Given the description of an element on the screen output the (x, y) to click on. 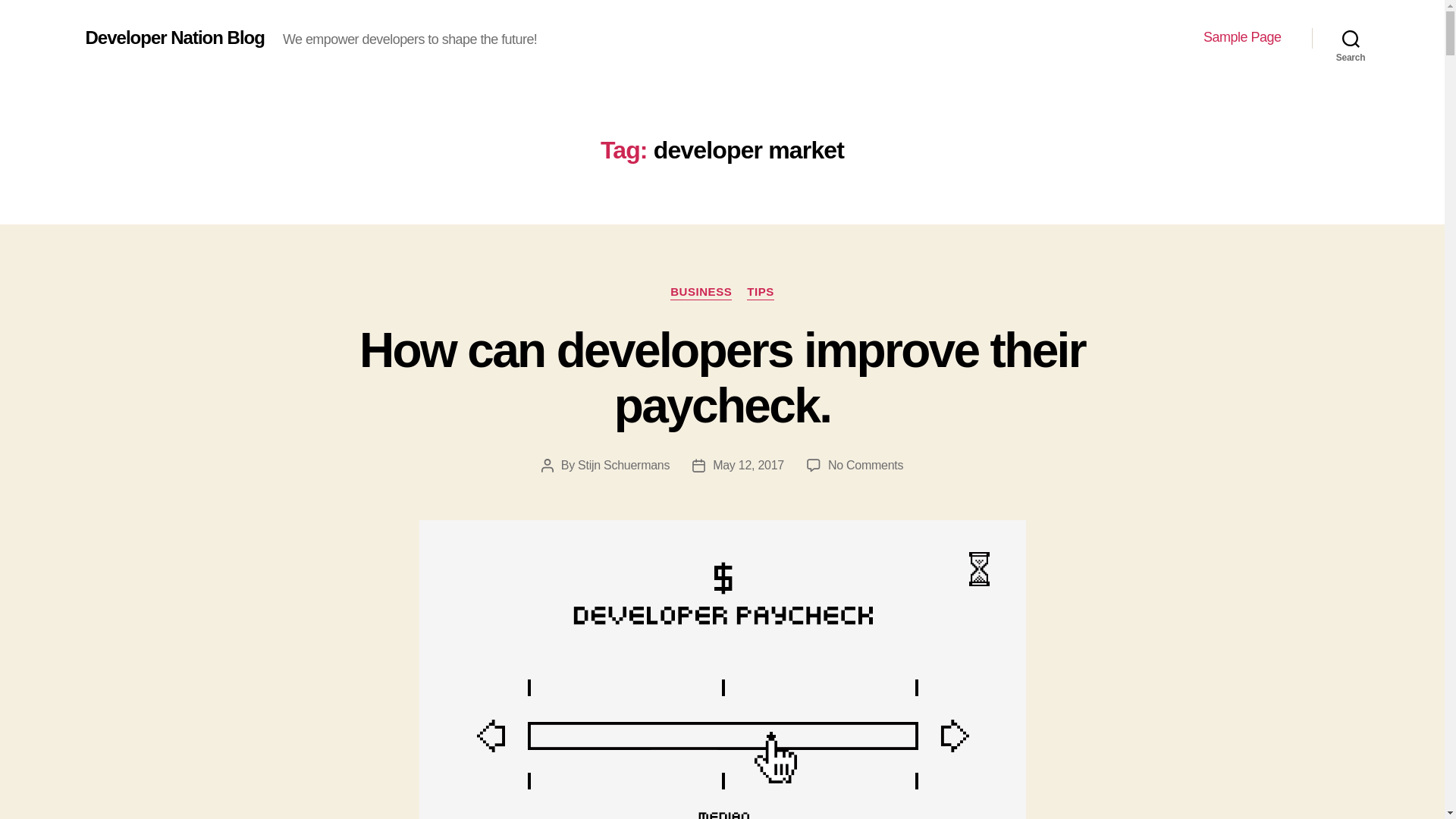
Developer Nation Blog (173, 37)
Search (1350, 37)
Sample Page (1242, 37)
TIPS (760, 292)
How can developers improve their paycheck. (721, 377)
BUSINESS (865, 464)
May 12, 2017 (700, 292)
Stijn Schuermans (748, 464)
